Given the description of an element on the screen output the (x, y) to click on. 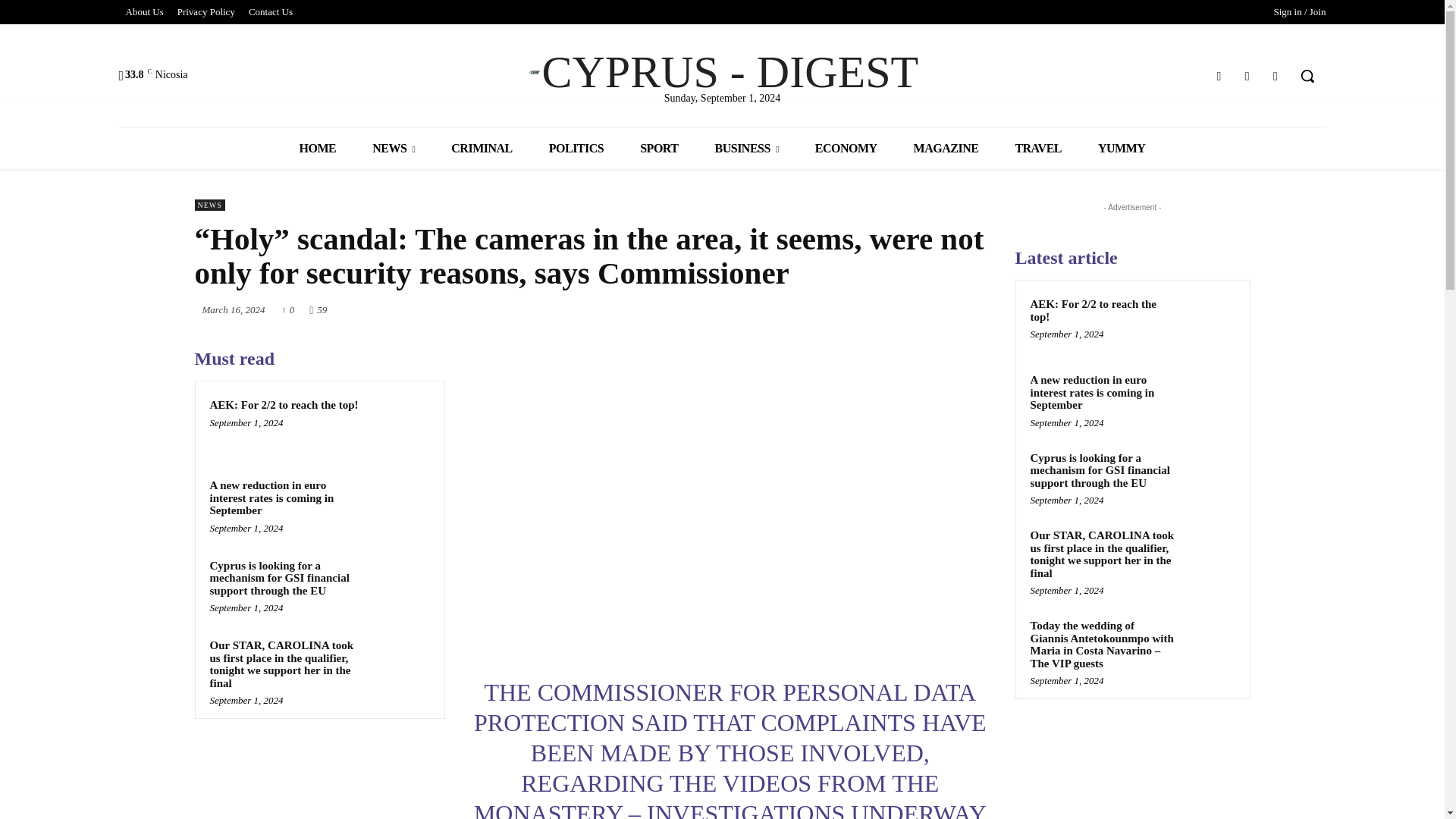
About Us (143, 12)
Youtube (1275, 76)
Privacy Policy (205, 12)
NEWS (392, 147)
Twitter (1246, 76)
CYPRUS - DIGEST (721, 71)
Facebook (1218, 76)
Contact Us (270, 12)
HOME (318, 147)
